Given the description of an element on the screen output the (x, y) to click on. 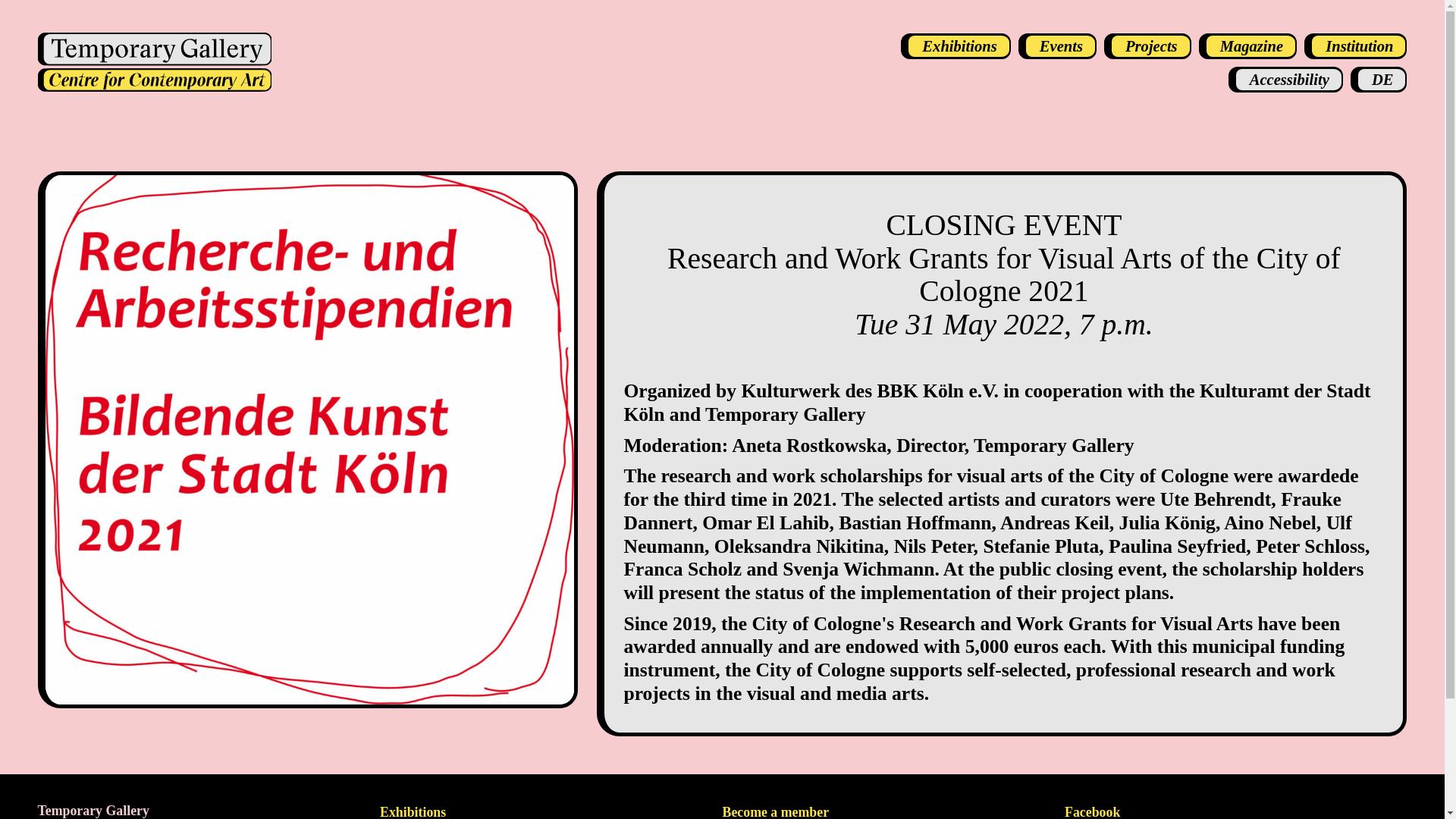
Institution (1355, 45)
Events (1056, 45)
Exhibitions (955, 45)
Magazine (1247, 45)
DE (1379, 79)
Magazine (1247, 45)
Projects (1147, 45)
Projects (1147, 45)
de (1379, 79)
Exhibitions (412, 811)
